Given the description of an element on the screen output the (x, y) to click on. 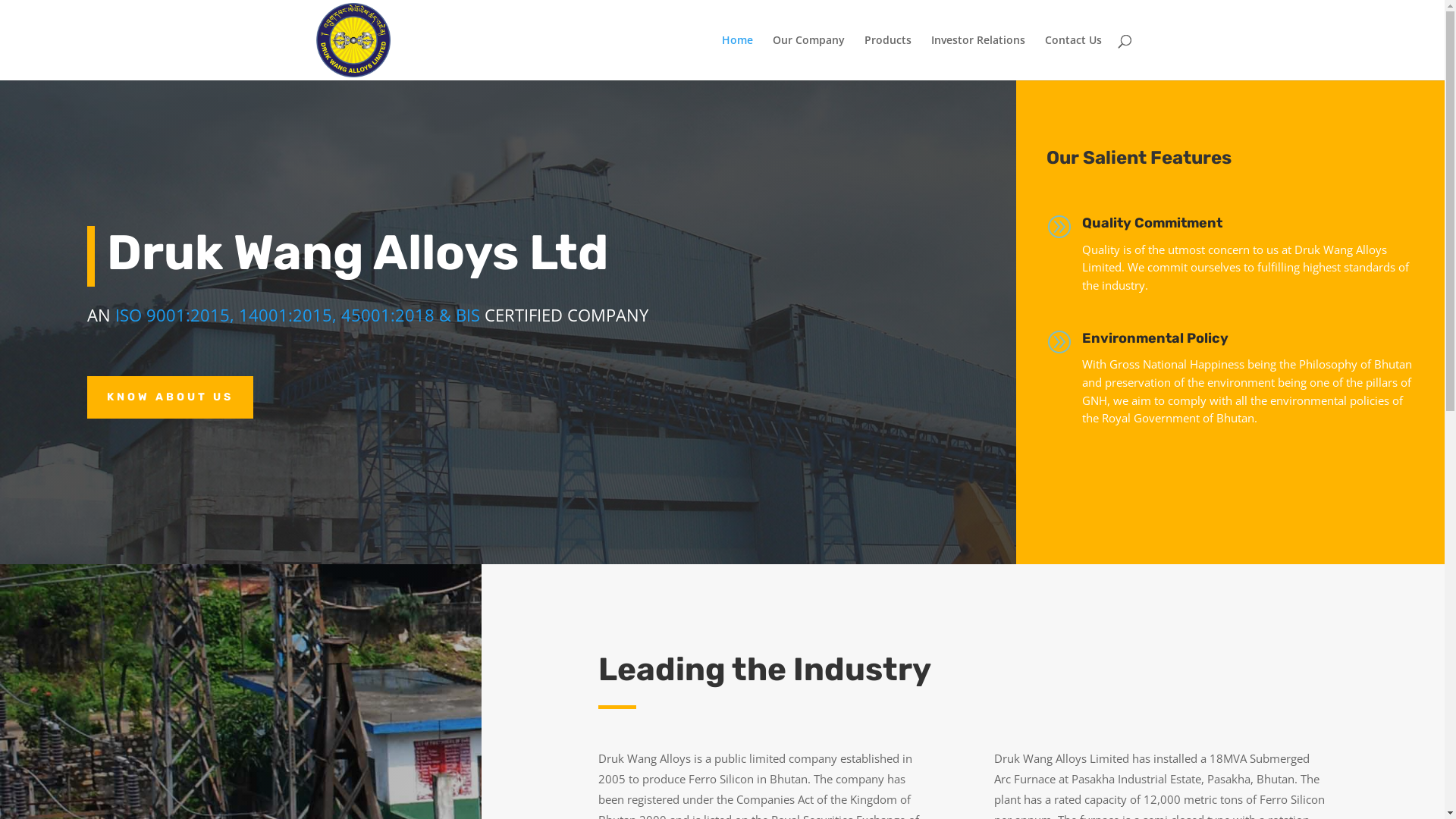
ISO 9001:2015 Element type: text (172, 314)
Contact Us Element type: text (1072, 57)
Home Element type: text (737, 57)
Our Company Element type: text (807, 57)
14001:2015, Element type: text (287, 314)
Products Element type: text (887, 57)
KNOW ABOUT US Element type: text (170, 397)
Investor Relations Element type: text (978, 57)
